Given the description of an element on the screen output the (x, y) to click on. 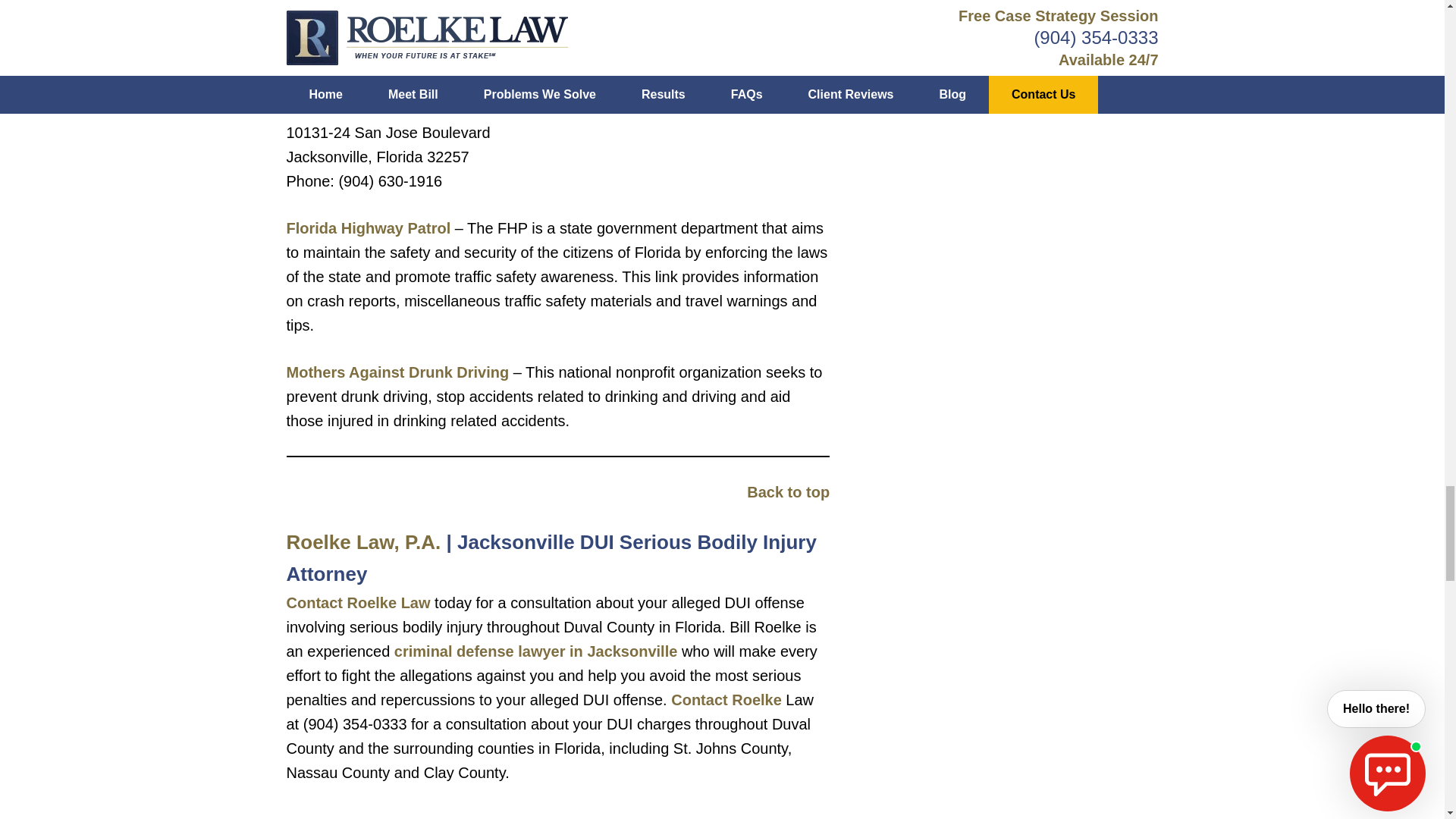
Mothers Against Drunk Driving (397, 371)
Back to top (787, 492)
Roelke Law, P.A. (363, 541)
criminal defense lawyer in Jacksonville (536, 651)
Florida Highway Patrol (368, 228)
Contact Roelke Law (358, 602)
Contact Roelke (726, 699)
